Given the description of an element on the screen output the (x, y) to click on. 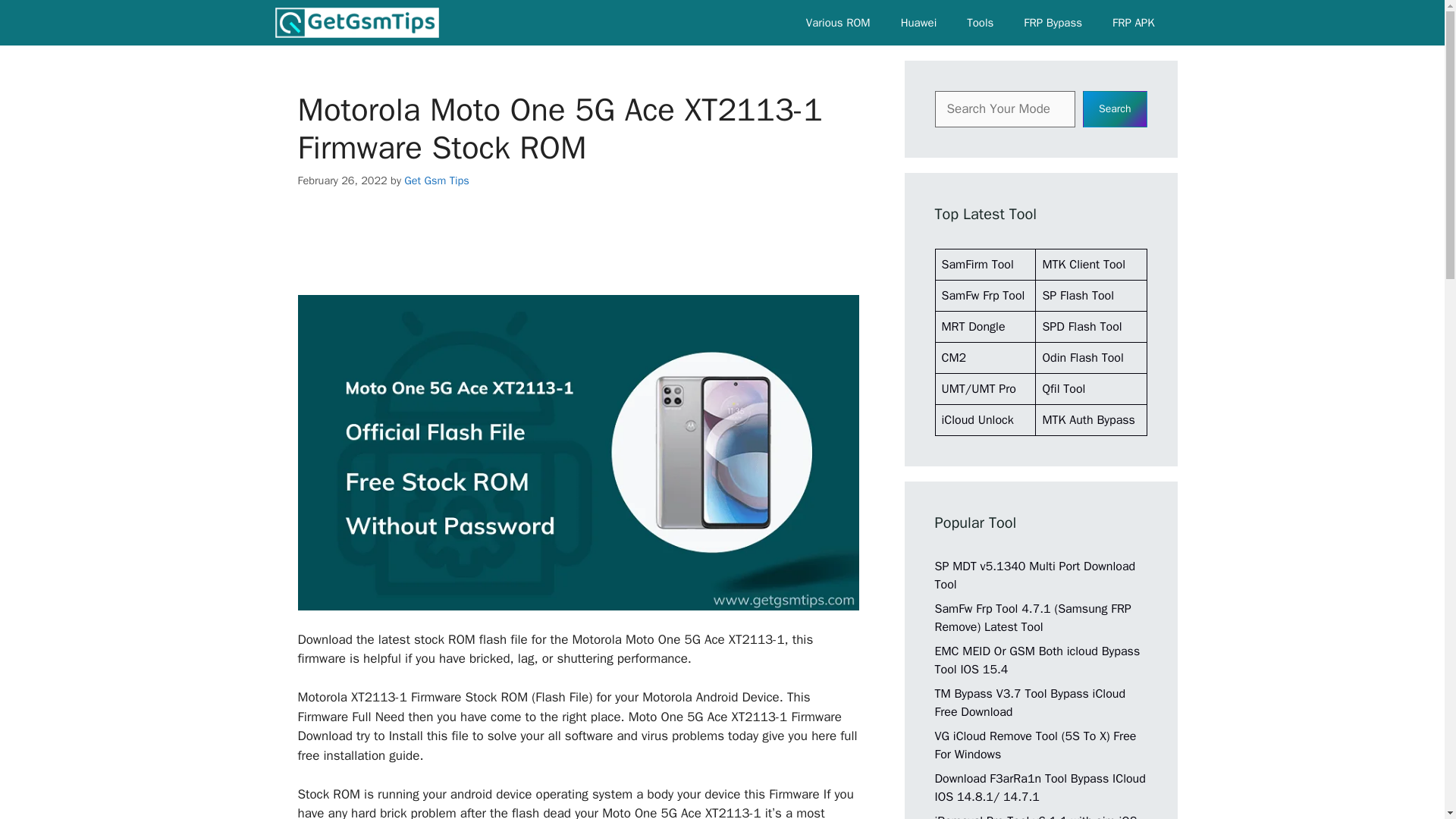
SP Flash Tool (1077, 295)
FRP Bypass (1053, 22)
Qfil Tool (1063, 387)
FRP APK (1133, 22)
Get Gsm Tips (436, 180)
Get Gsm Tips (357, 22)
Odin Flash Tool (1082, 357)
iCloud Unlock (977, 419)
Various ROM (837, 22)
Huawei (918, 22)
